Given the description of an element on the screen output the (x, y) to click on. 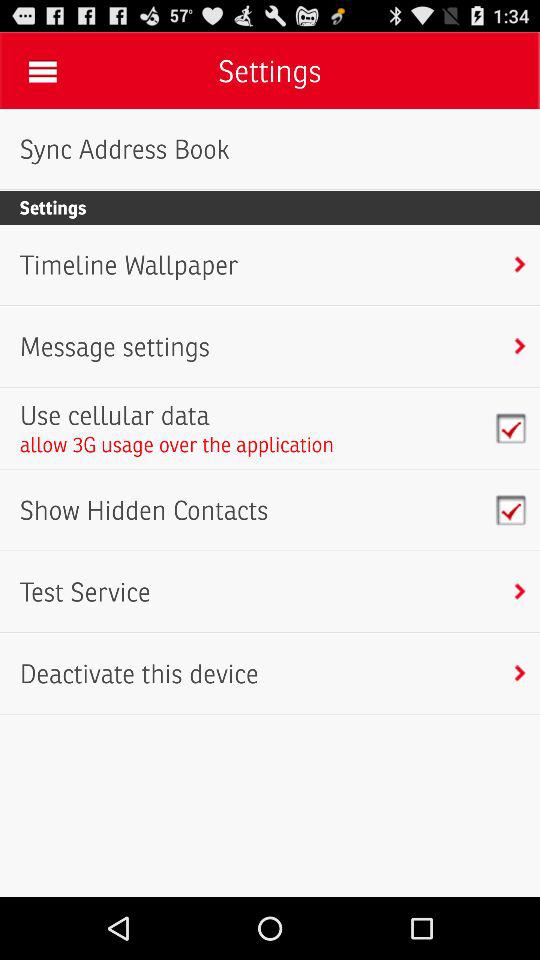
jump until the timeline wallpaper (128, 265)
